Given the description of an element on the screen output the (x, y) to click on. 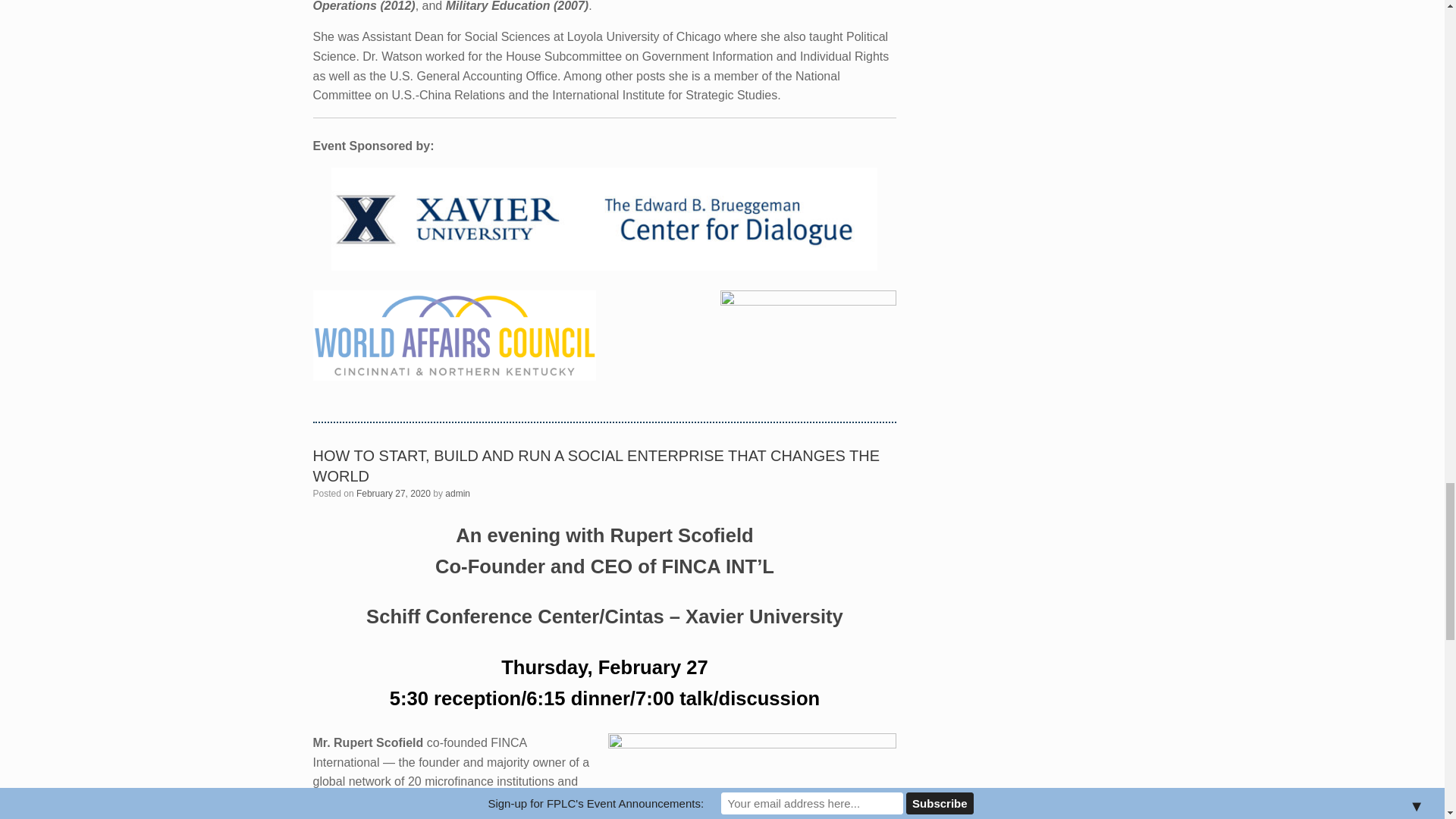
Page 1 (604, 776)
admin (457, 493)
View all posts by admin (457, 493)
6:00 pm (393, 493)
February 27, 2020 (393, 493)
